Given the description of an element on the screen output the (x, y) to click on. 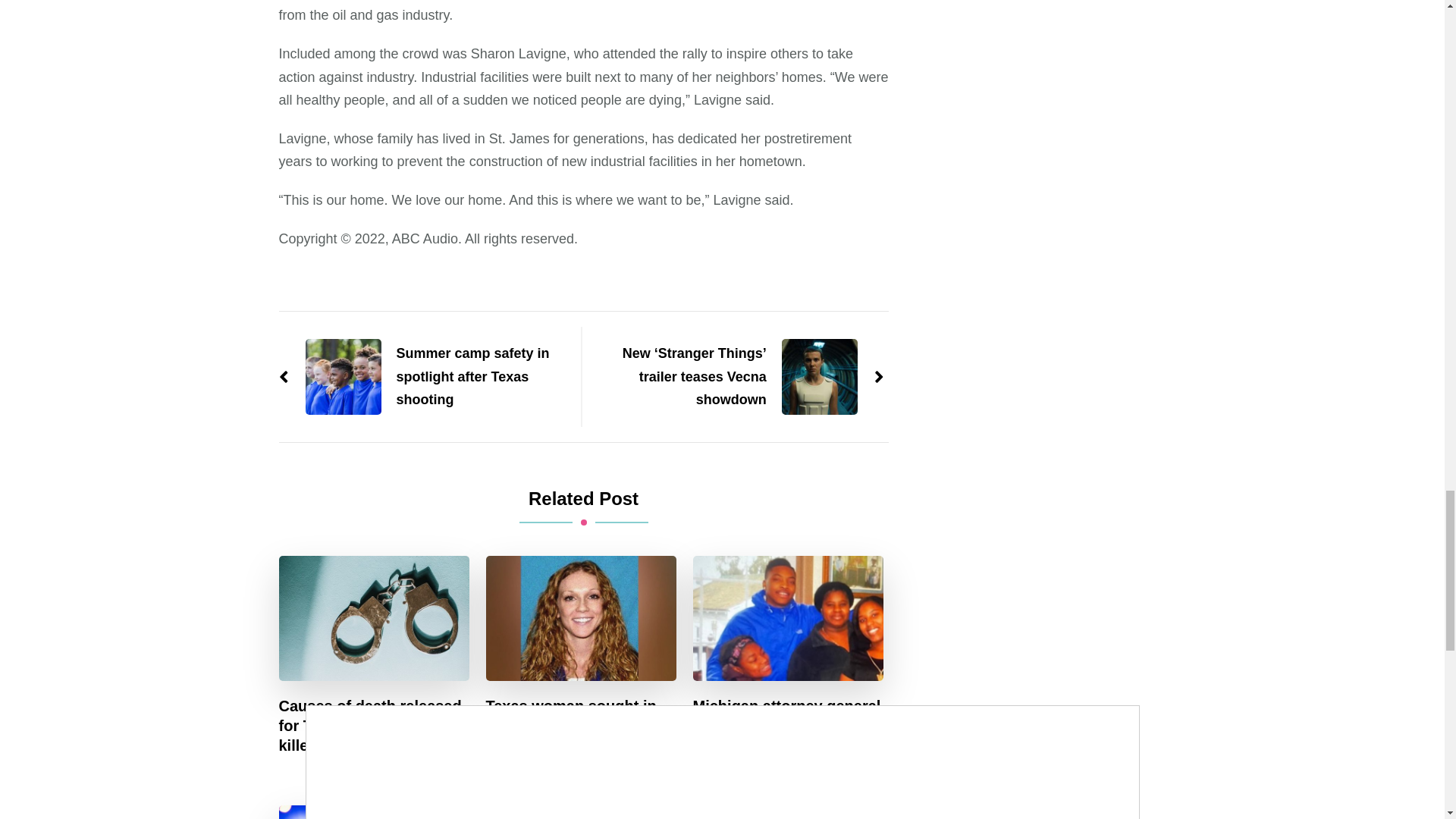
Summer camp safety in spotlight after Texas shooting (421, 376)
